Given the description of an element on the screen output the (x, y) to click on. 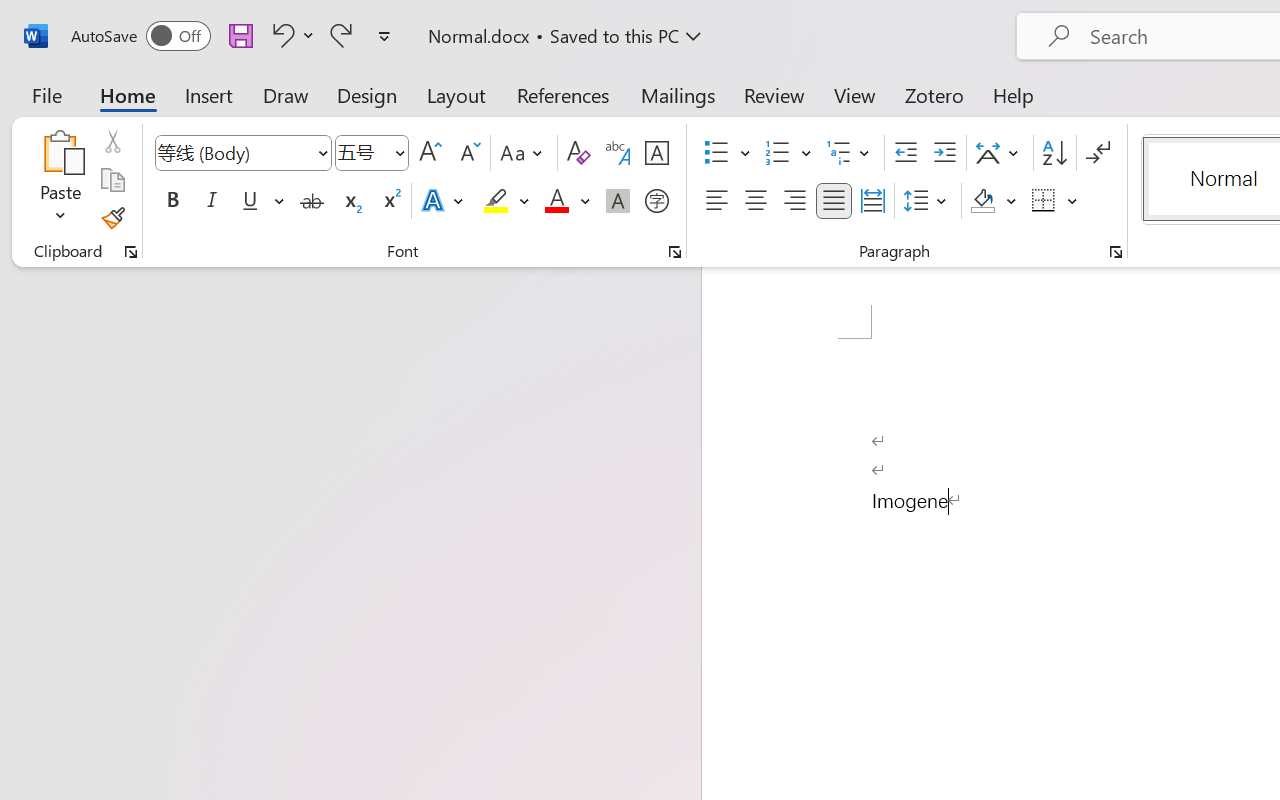
Office Clipboard... (131, 252)
